Given the description of an element on the screen output the (x, y) to click on. 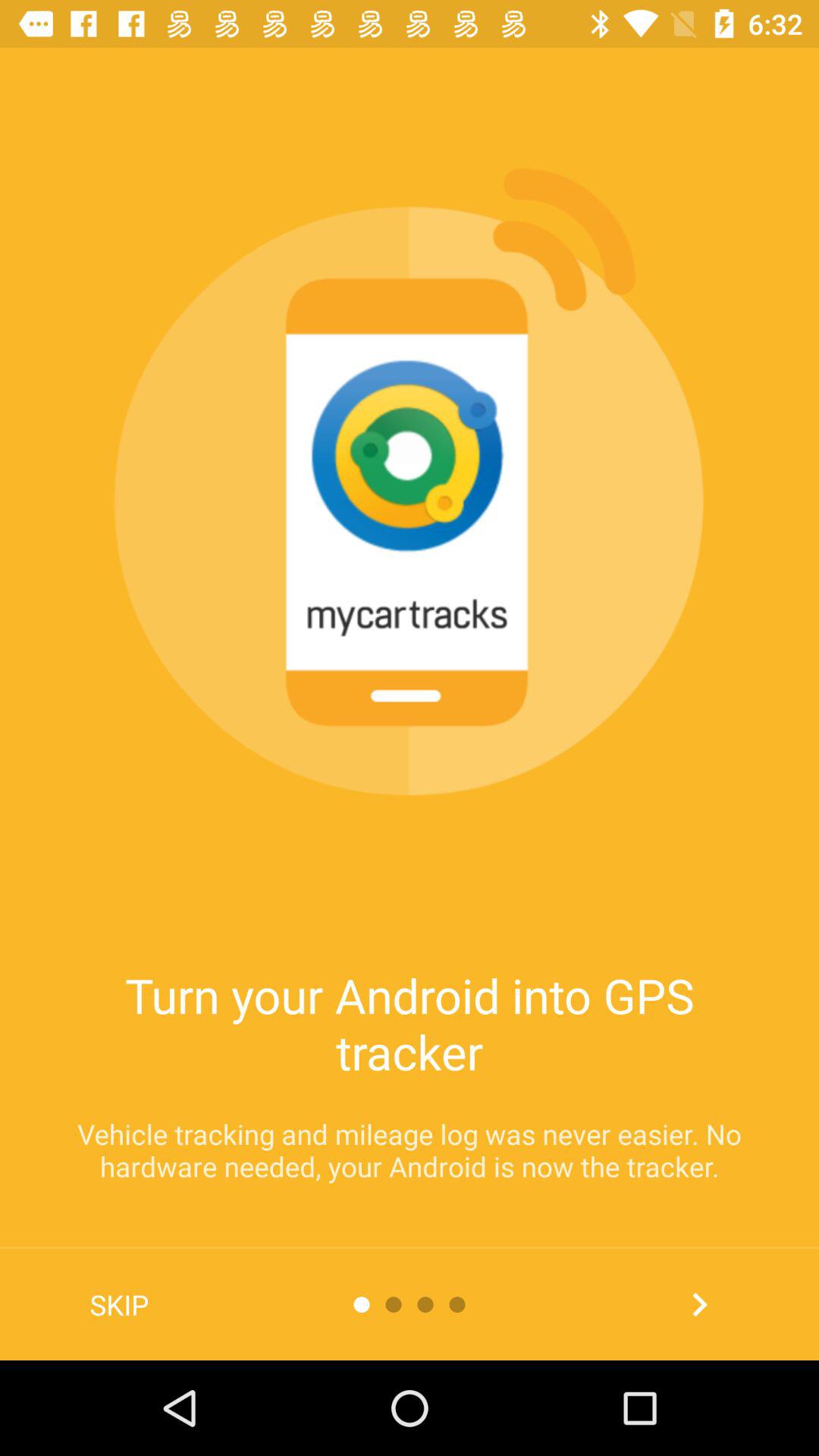
open the skip at the bottom left corner (119, 1304)
